Given the description of an element on the screen output the (x, y) to click on. 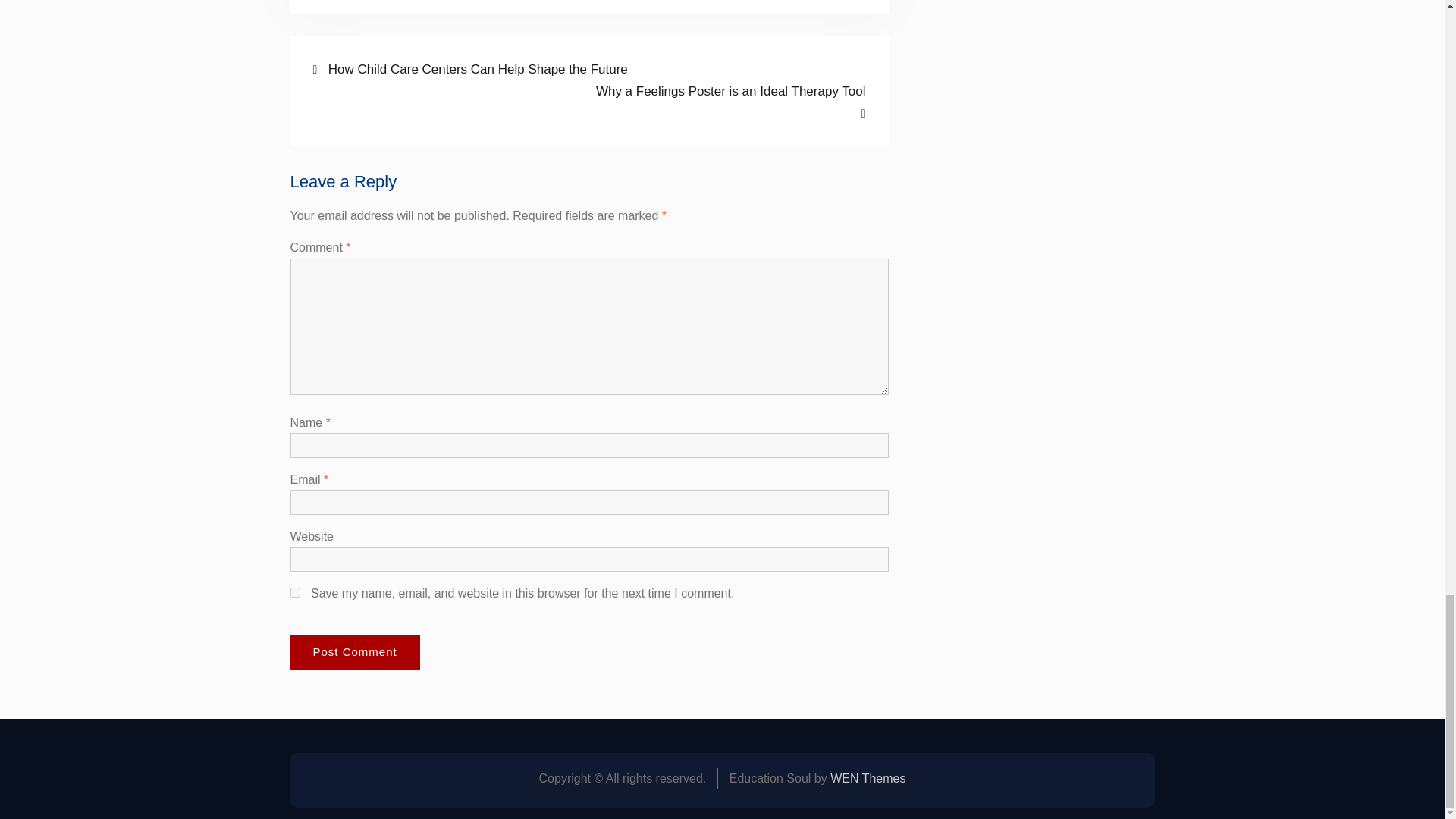
WEN Themes (867, 778)
Post Comment (727, 102)
yes (354, 652)
Post Comment (294, 592)
